Given the description of an element on the screen output the (x, y) to click on. 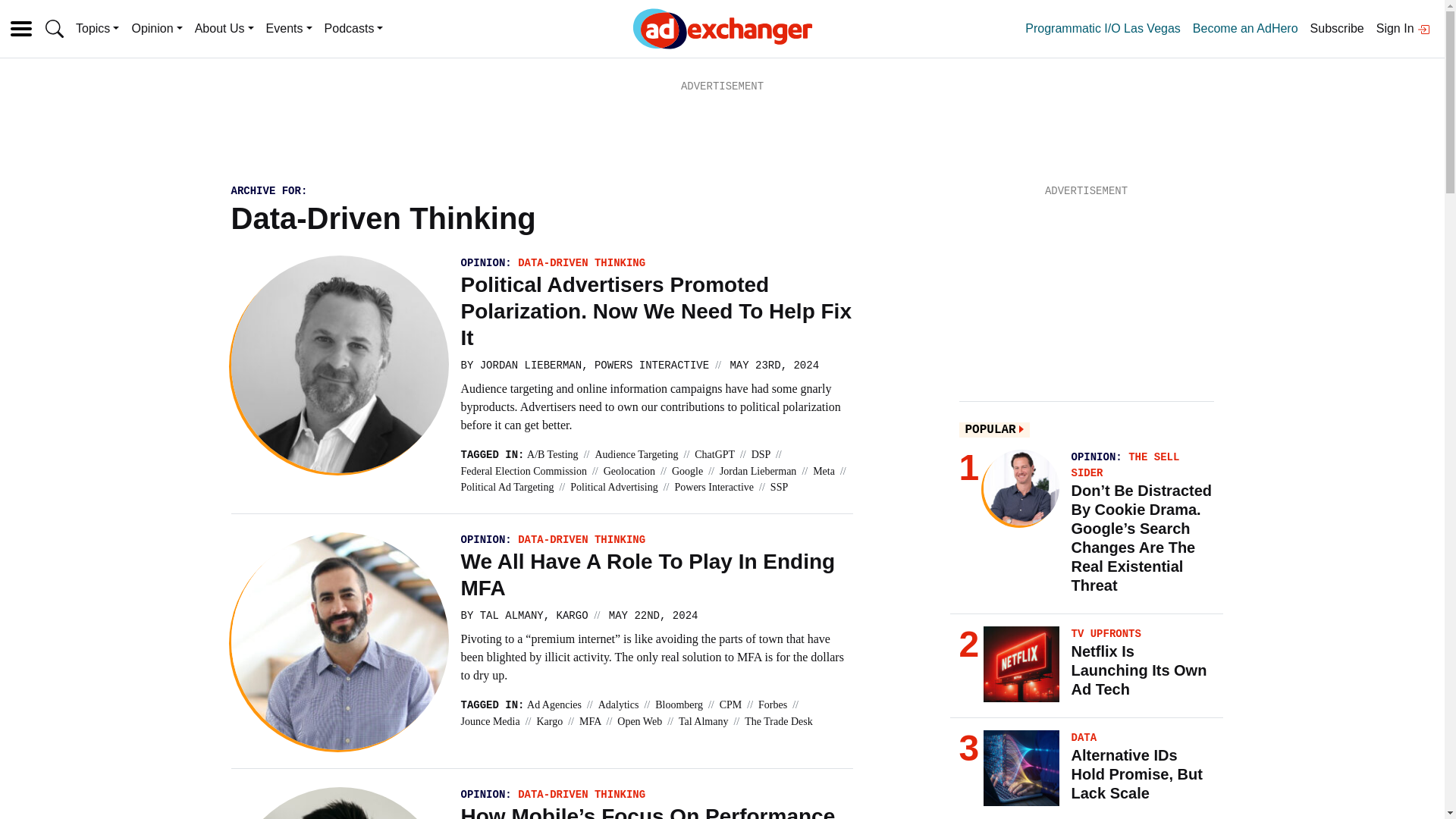
Opinion (156, 28)
Topics (97, 28)
Events (289, 28)
About Us (224, 28)
